Given the description of an element on the screen output the (x, y) to click on. 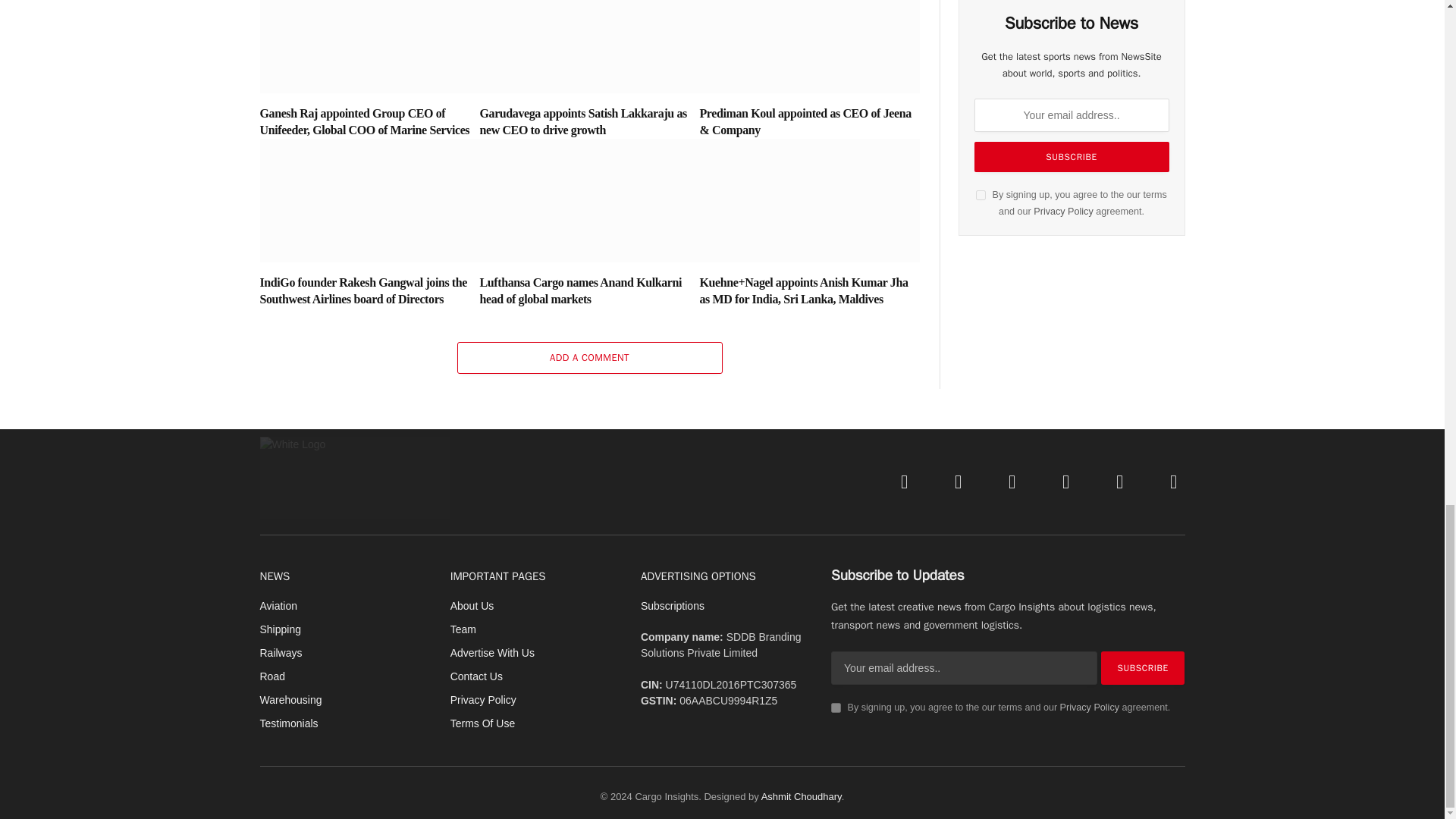
Subscribe (1071, 156)
on (980, 194)
on (836, 707)
Subscribe (1142, 667)
